Given the description of an element on the screen output the (x, y) to click on. 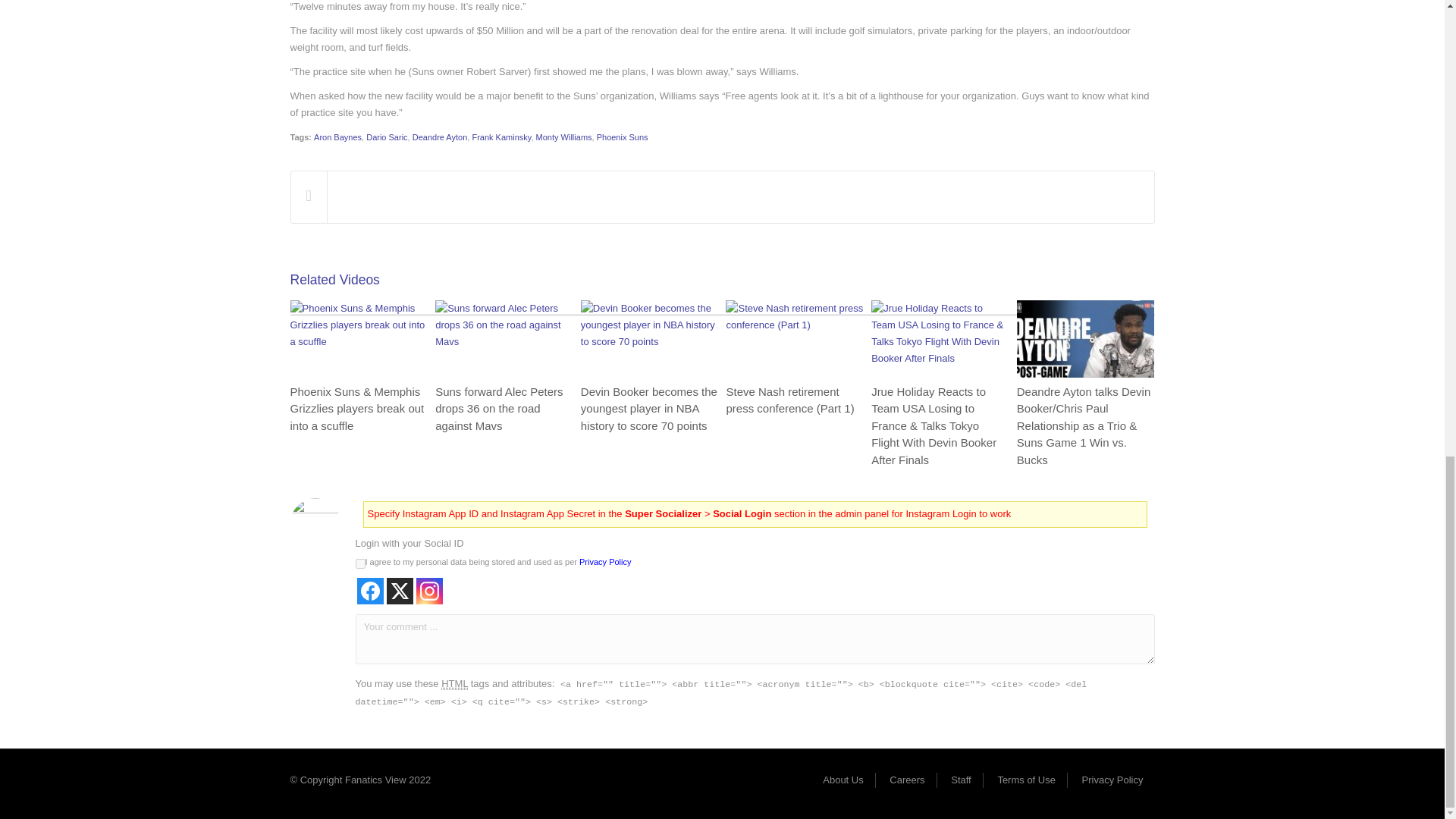
1 (360, 563)
